Given the description of an element on the screen output the (x, y) to click on. 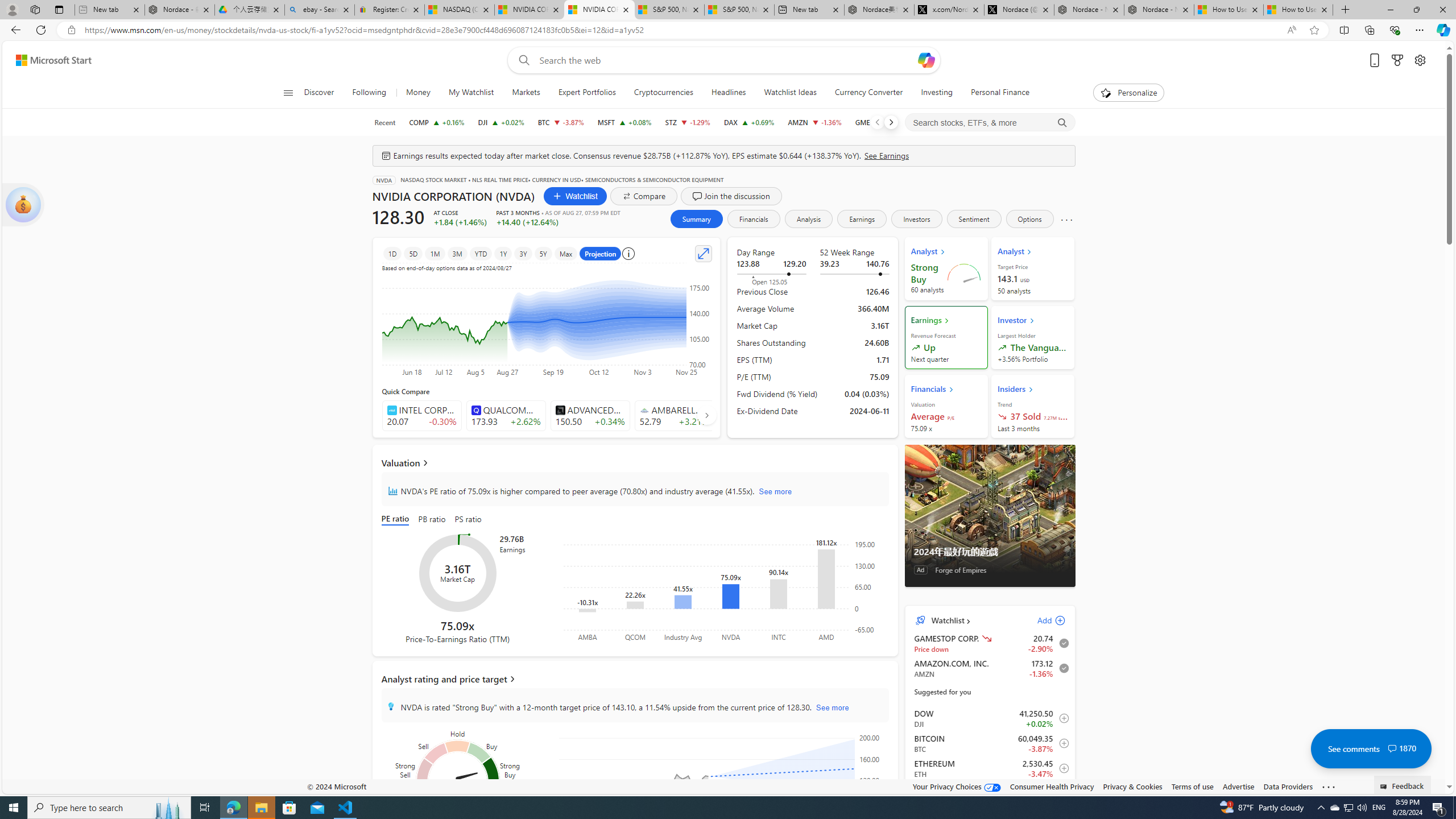
DJI DOW increase 41,250.50 +9.98 +0.02% item0 (989, 717)
